Given the description of an element on the screen output the (x, y) to click on. 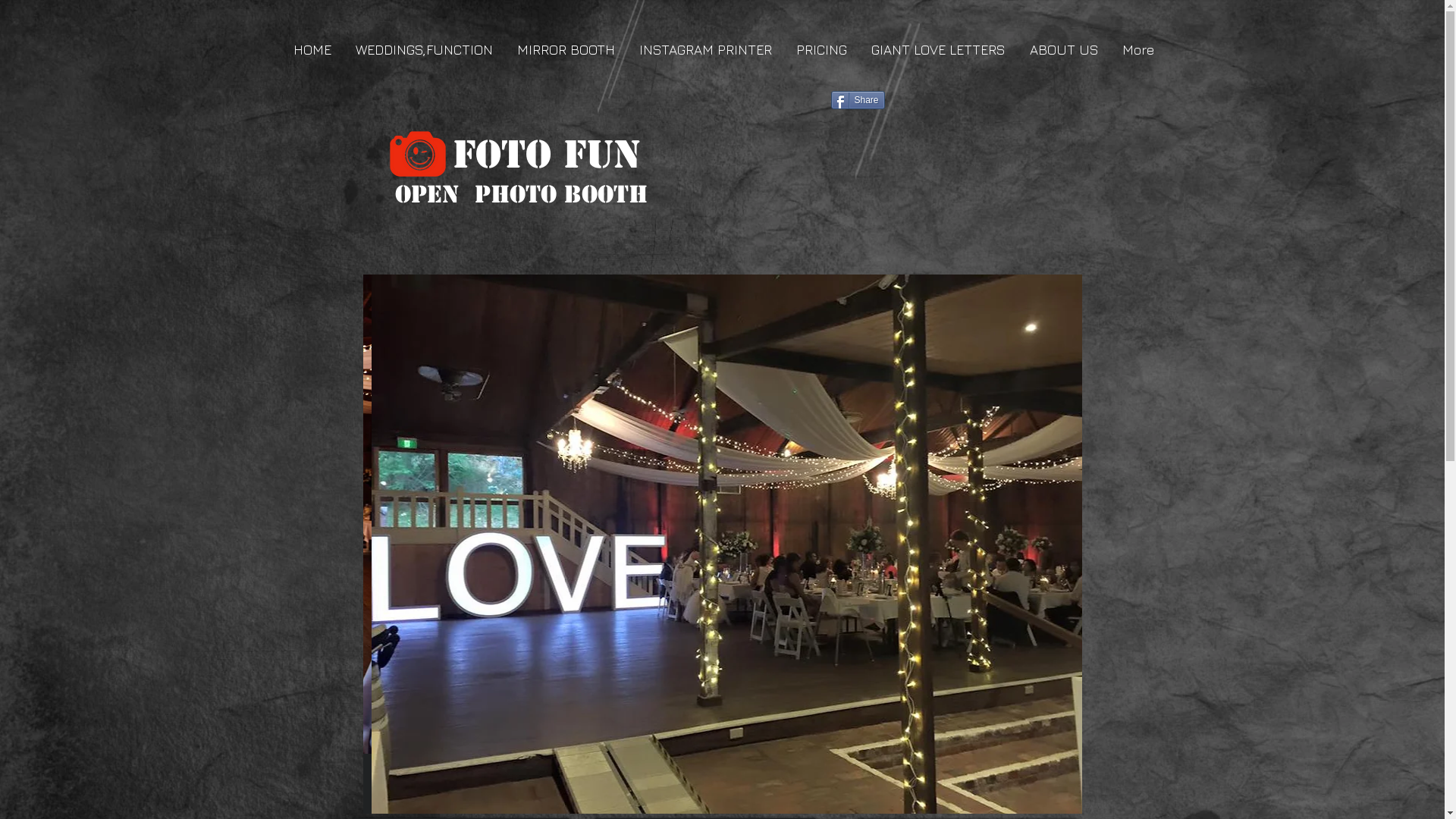
Facebook Like Element type: hover (1003, 106)
Share Element type: text (857, 100)
WEB-STAT Element type: hover (1040, 230)
INSTAGRAM PRINTER Element type: text (704, 49)
PRICING Element type: text (819, 49)
HOME Element type: text (311, 49)
WEDDINGS,FUNCTION Element type: text (423, 49)
ABOUT US Element type: text (1062, 49)
MIRROR BOOTH Element type: text (564, 49)
GIANT LOVE LETTERS Element type: text (937, 49)
